Given the description of an element on the screen output the (x, y) to click on. 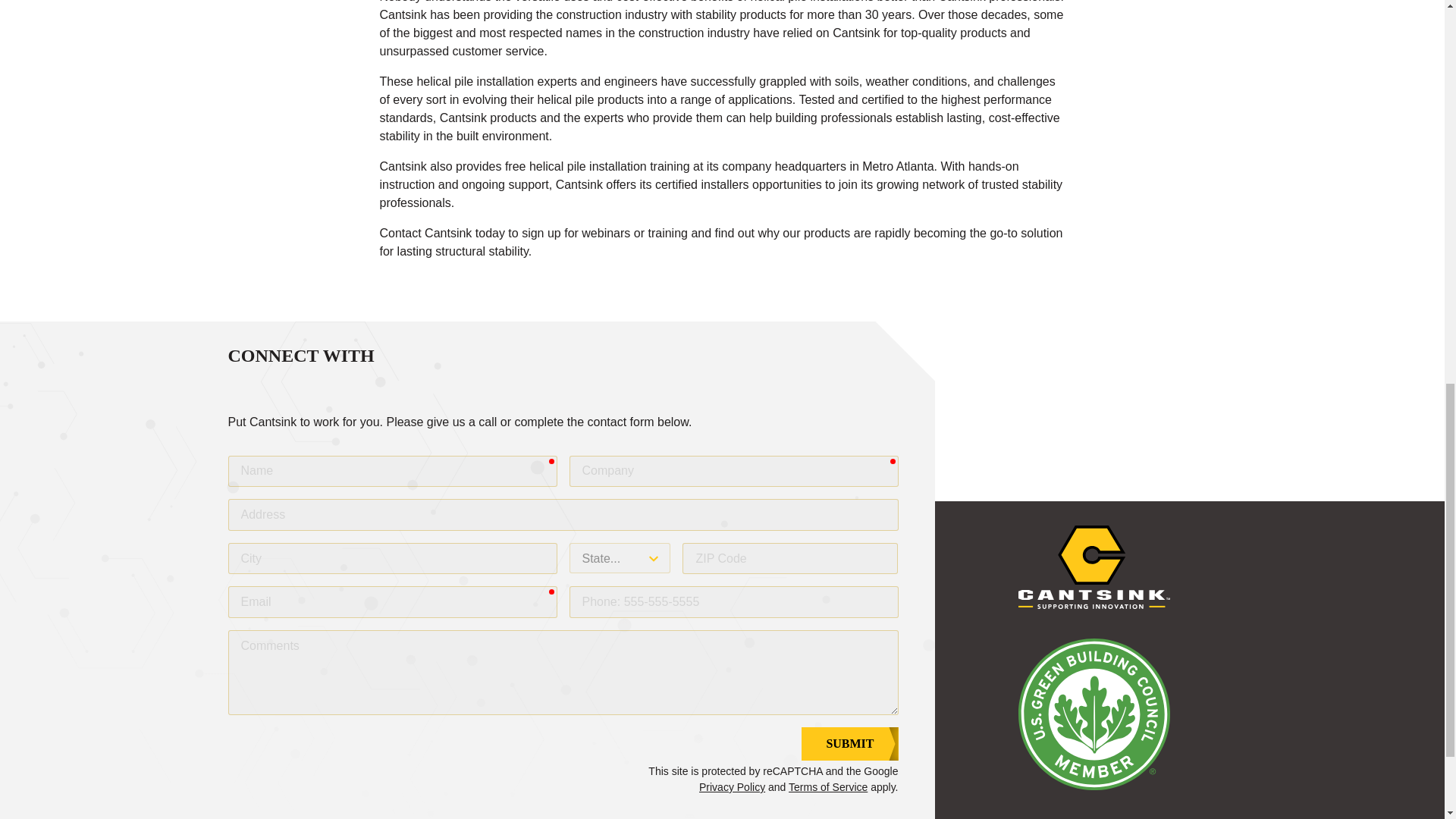
Enter a valid 5 digit ZIP code (790, 558)
